Given the description of an element on the screen output the (x, y) to click on. 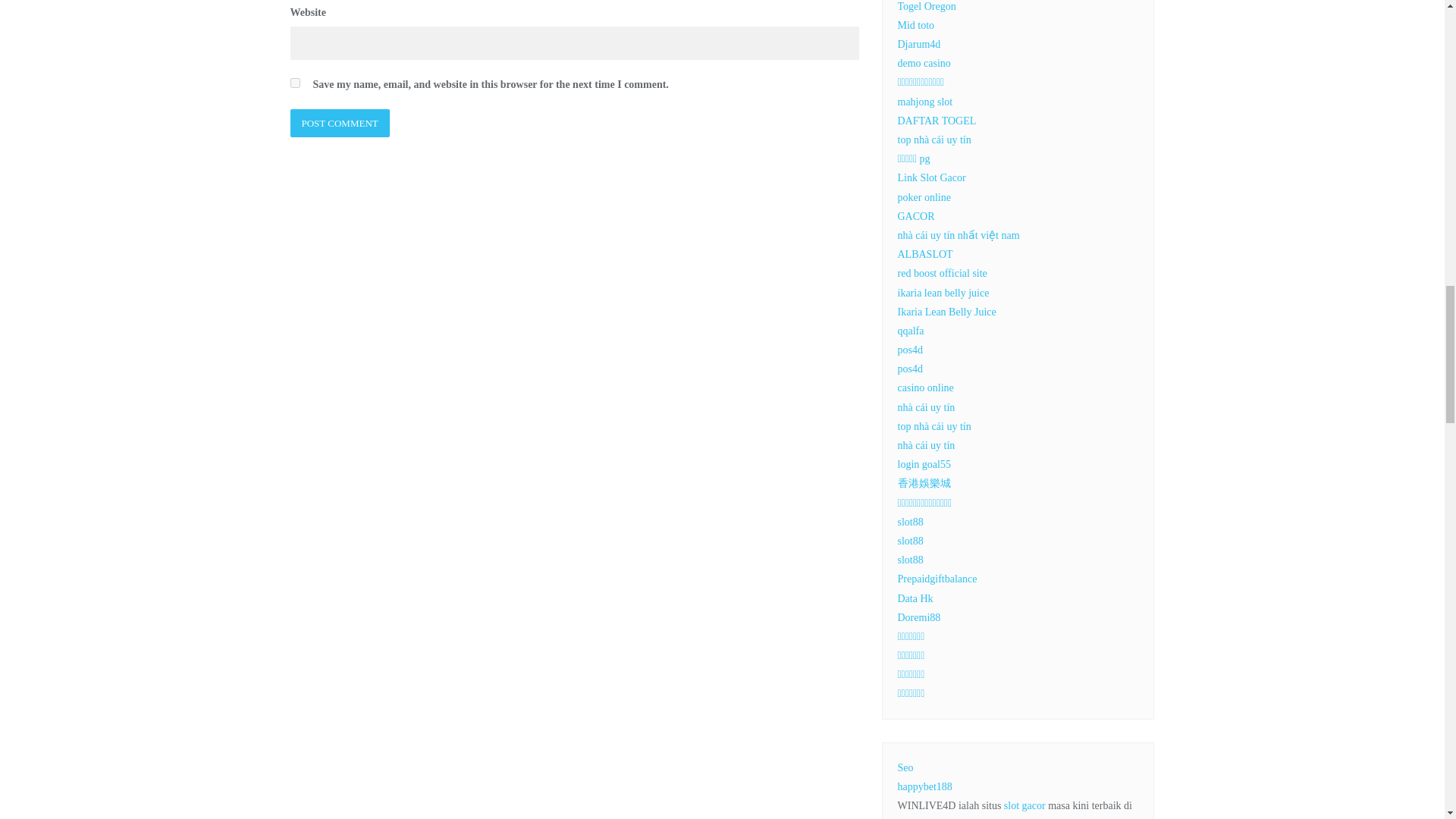
Post Comment (338, 122)
Post Comment (338, 122)
yes (294, 82)
